Given the description of an element on the screen output the (x, y) to click on. 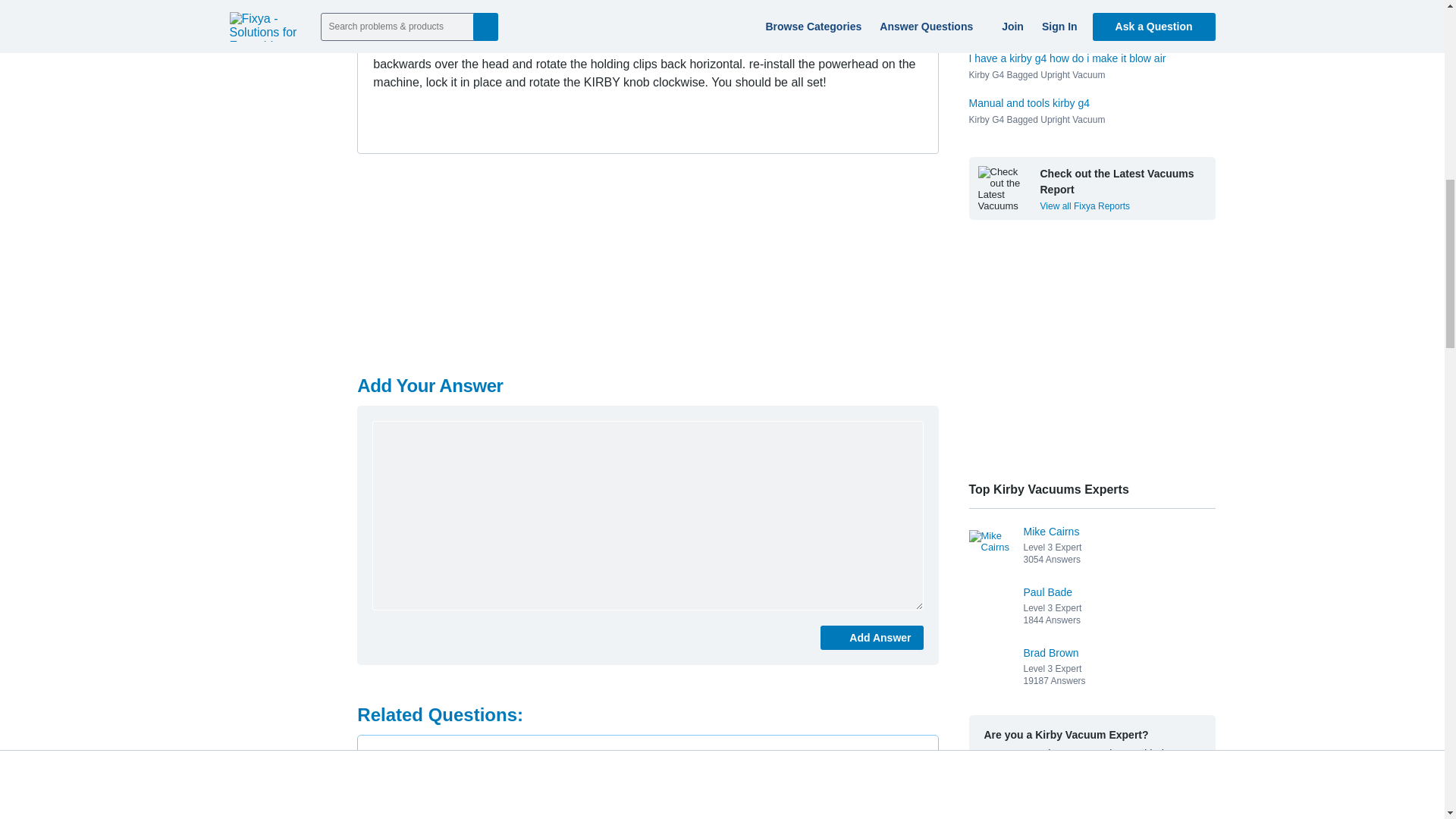
Add Answer (872, 637)
